Given the description of an element on the screen output the (x, y) to click on. 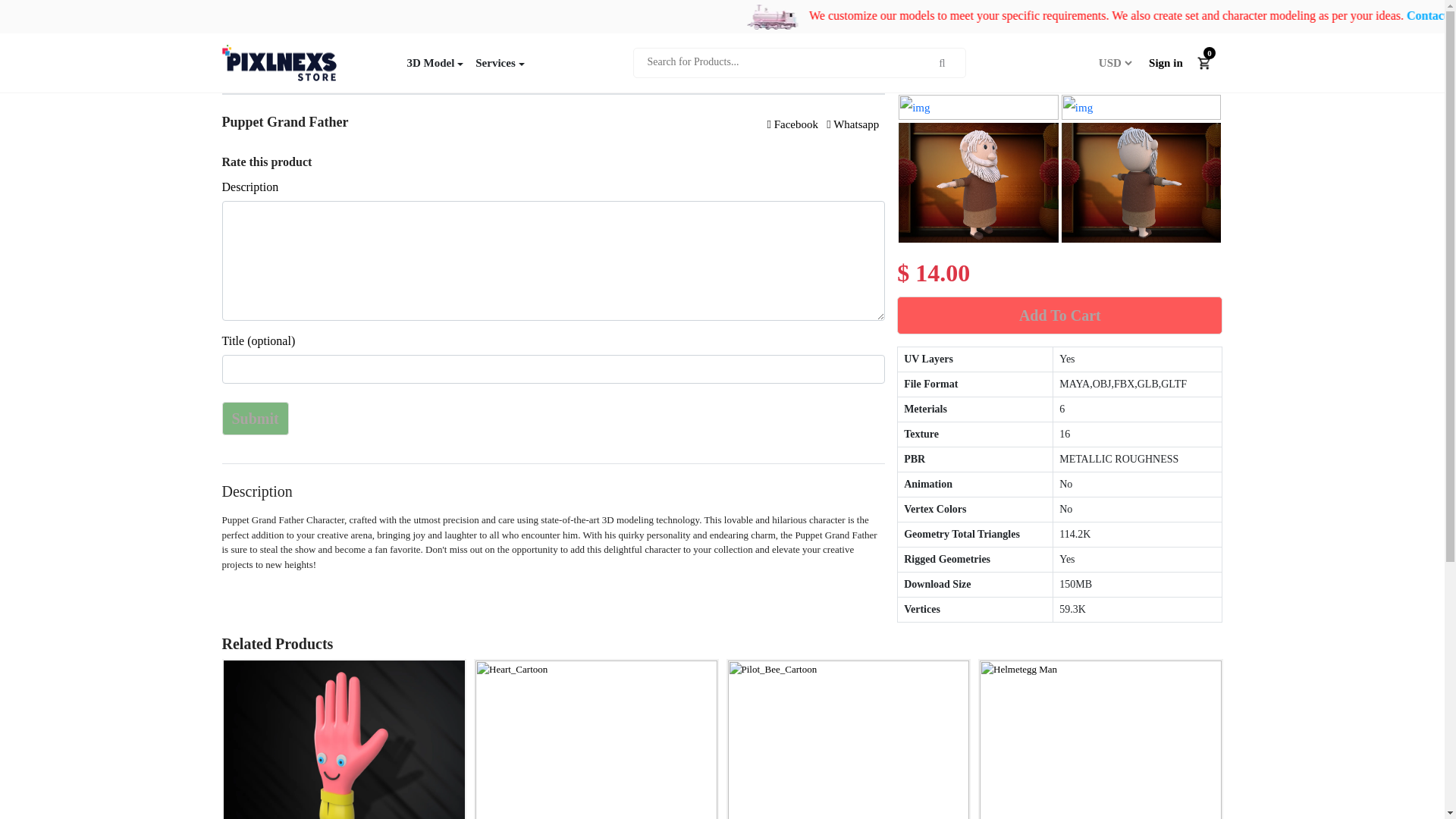
Pixlnexs Store (278, 63)
Sign in (1166, 62)
Whatsapp (853, 123)
Services (498, 62)
3D Model (434, 62)
Facebook (792, 123)
